Given the description of an element on the screen output the (x, y) to click on. 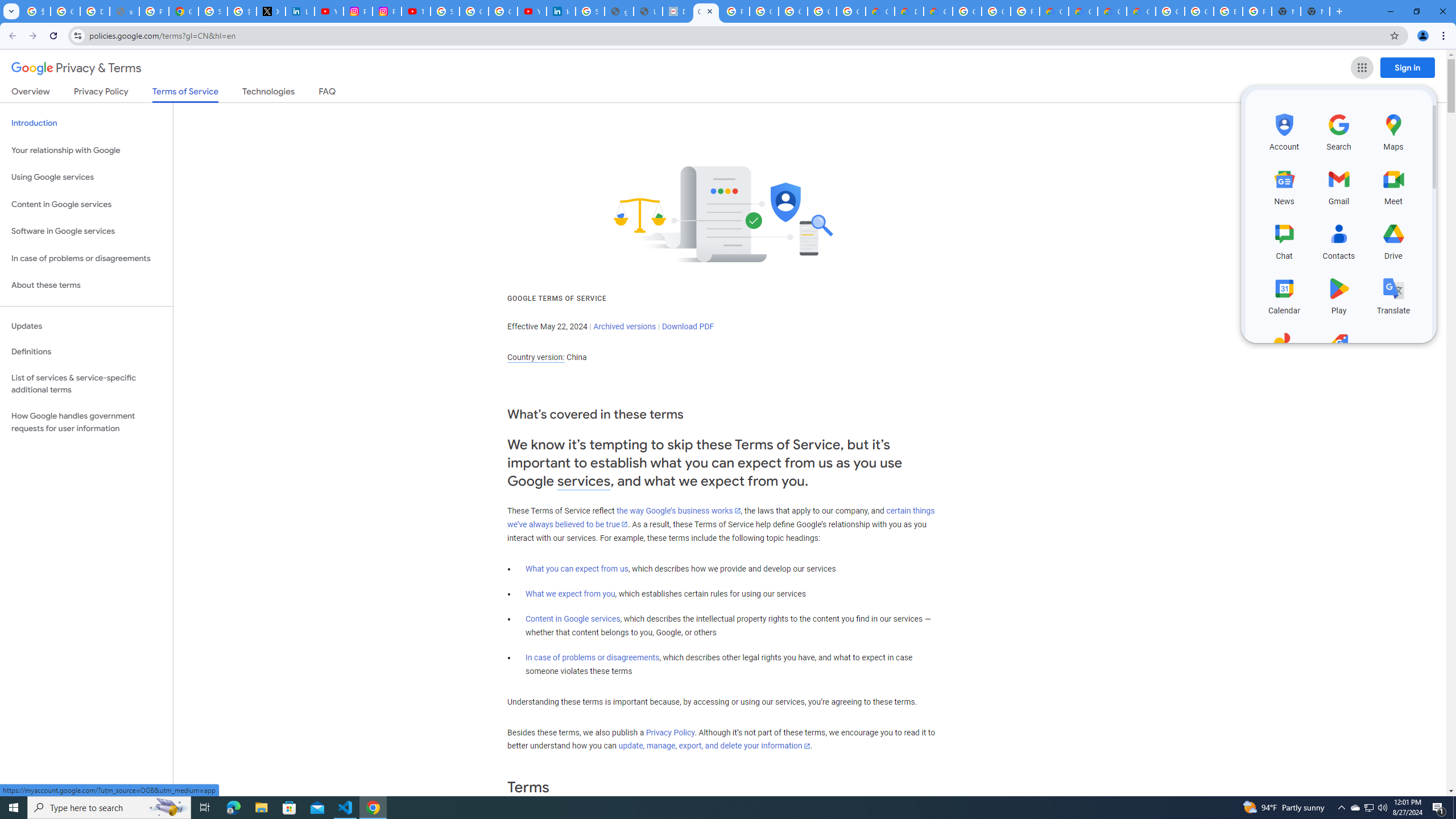
Address and search bar (735, 35)
Reload (52, 35)
Sign in - Google Accounts (444, 11)
Google Workspace - Specific Terms (850, 11)
Google apps (1362, 67)
Identity verification via Persona | LinkedIn Help (560, 11)
Google Cloud Pricing Calculator (1082, 11)
